Given the description of an element on the screen output the (x, y) to click on. 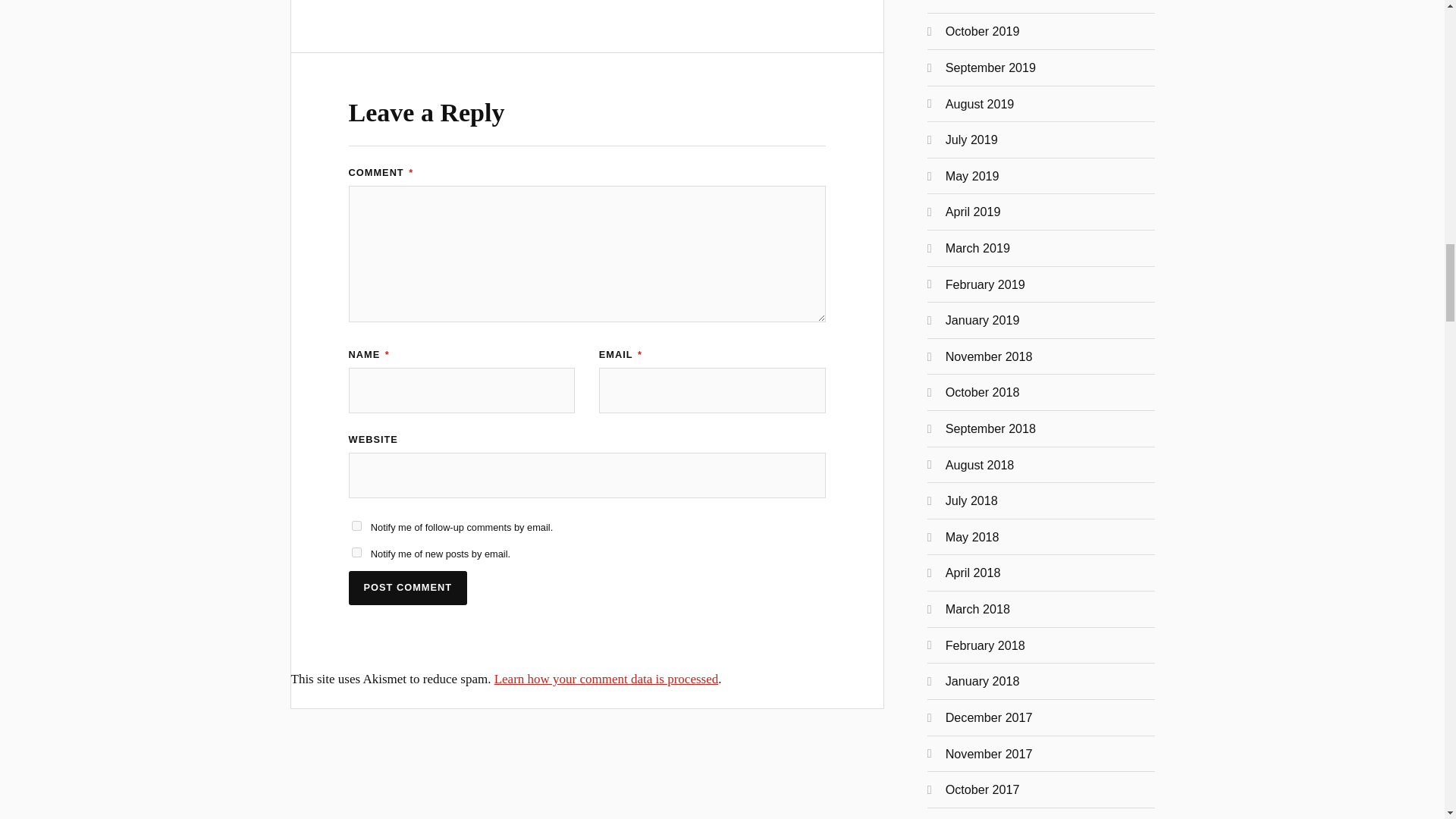
subscribe (356, 552)
Post Comment (408, 587)
subscribe (356, 525)
